Given the description of an element on the screen output the (x, y) to click on. 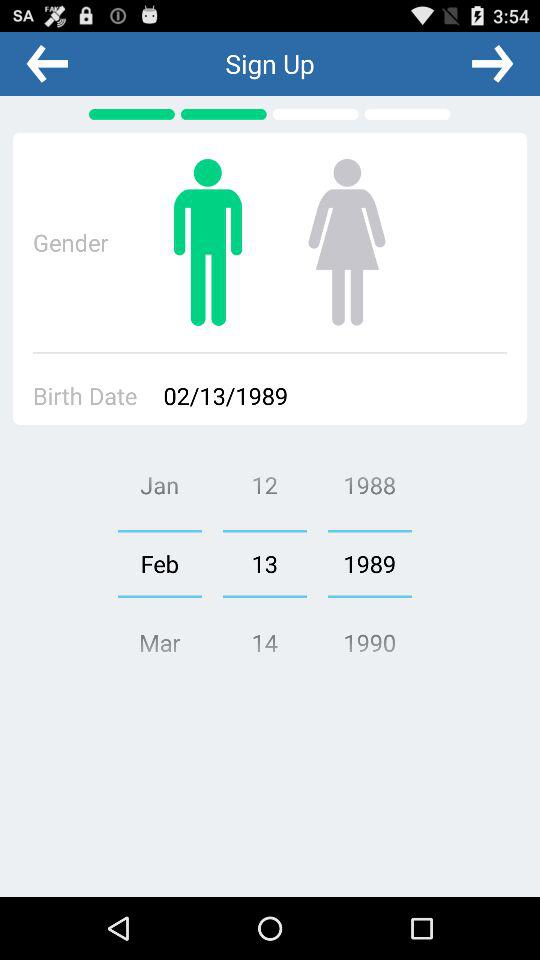
press the item to the left of 13 (159, 563)
